Given the description of an element on the screen output the (x, y) to click on. 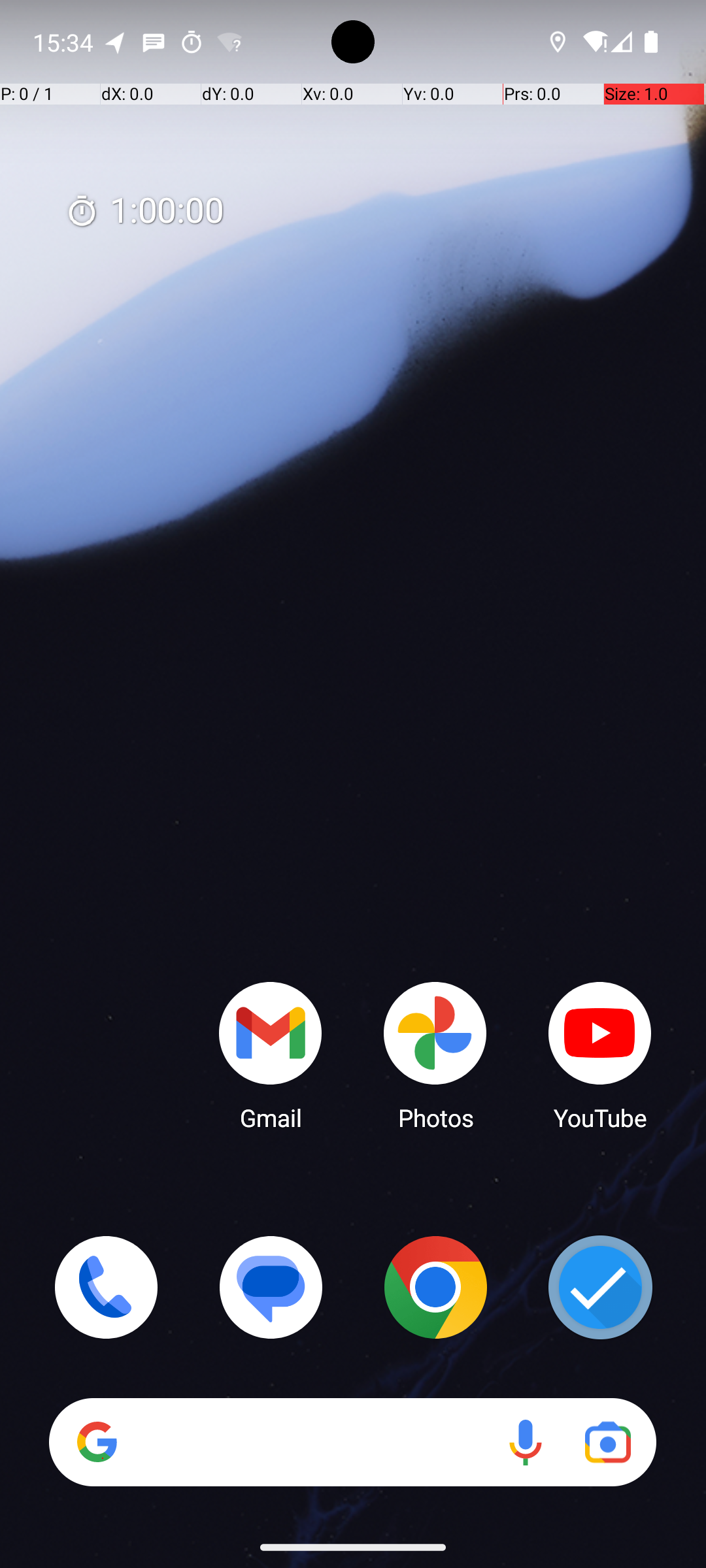
1:00:01 Element type: android.widget.TextView (144, 210)
